Given the description of an element on the screen output the (x, y) to click on. 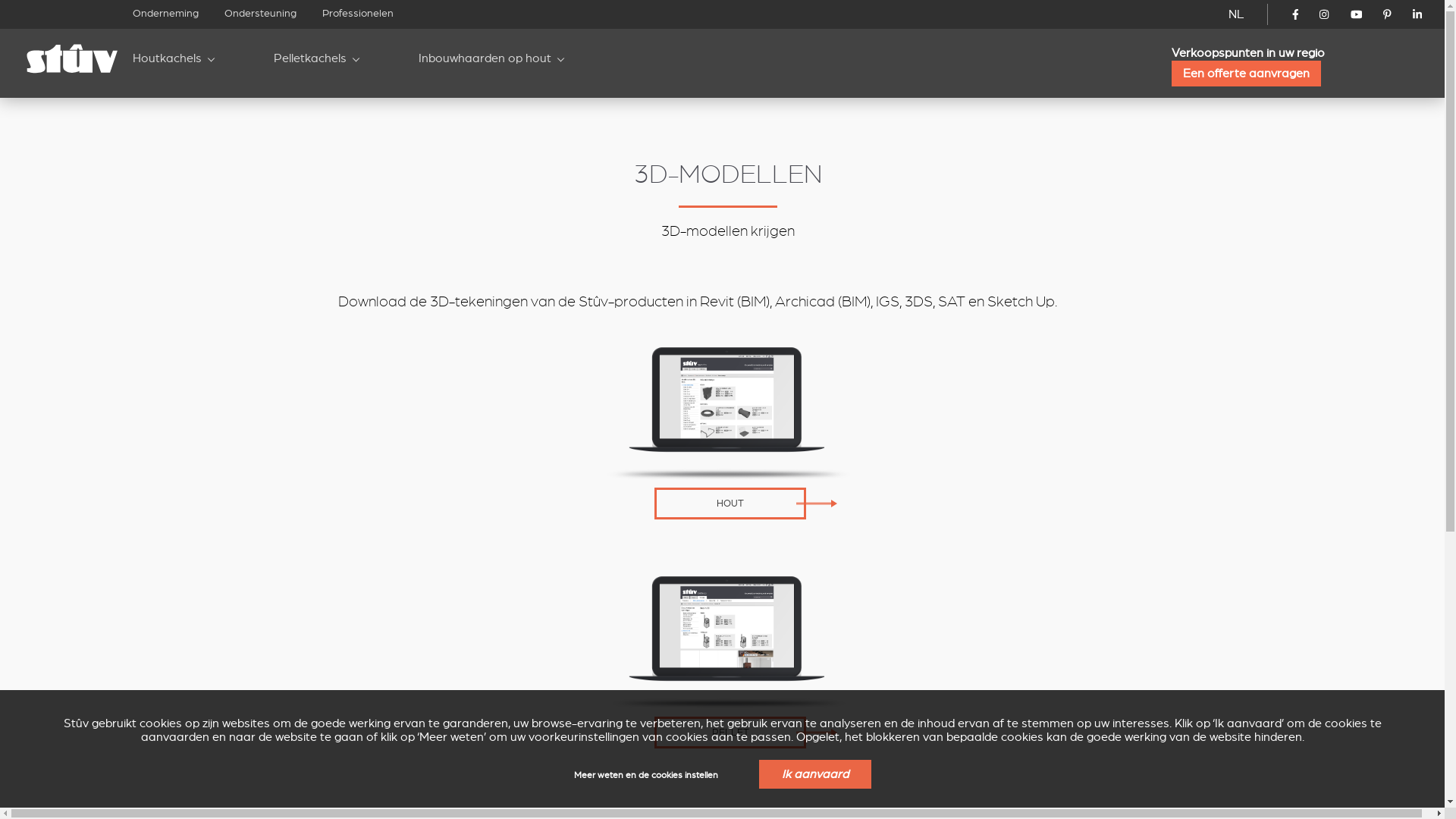
Pelletkachels Element type: text (309, 63)
Ik aanvaard Element type: text (814, 773)
Een offerte aanvragen Element type: text (1246, 73)
Inbouwhaarden op hout Element type: text (484, 63)
Houtkachels Element type: text (166, 63)
Meer weten en de cookies instellen Element type: text (645, 777)
NL Element type: text (1236, 14)
Professionelen Element type: text (357, 12)
Ondersteuning Element type: text (260, 12)
Onderneming Element type: text (165, 12)
Verkoopspunten in uw regio Element type: text (1247, 52)
